Given the description of an element on the screen output the (x, y) to click on. 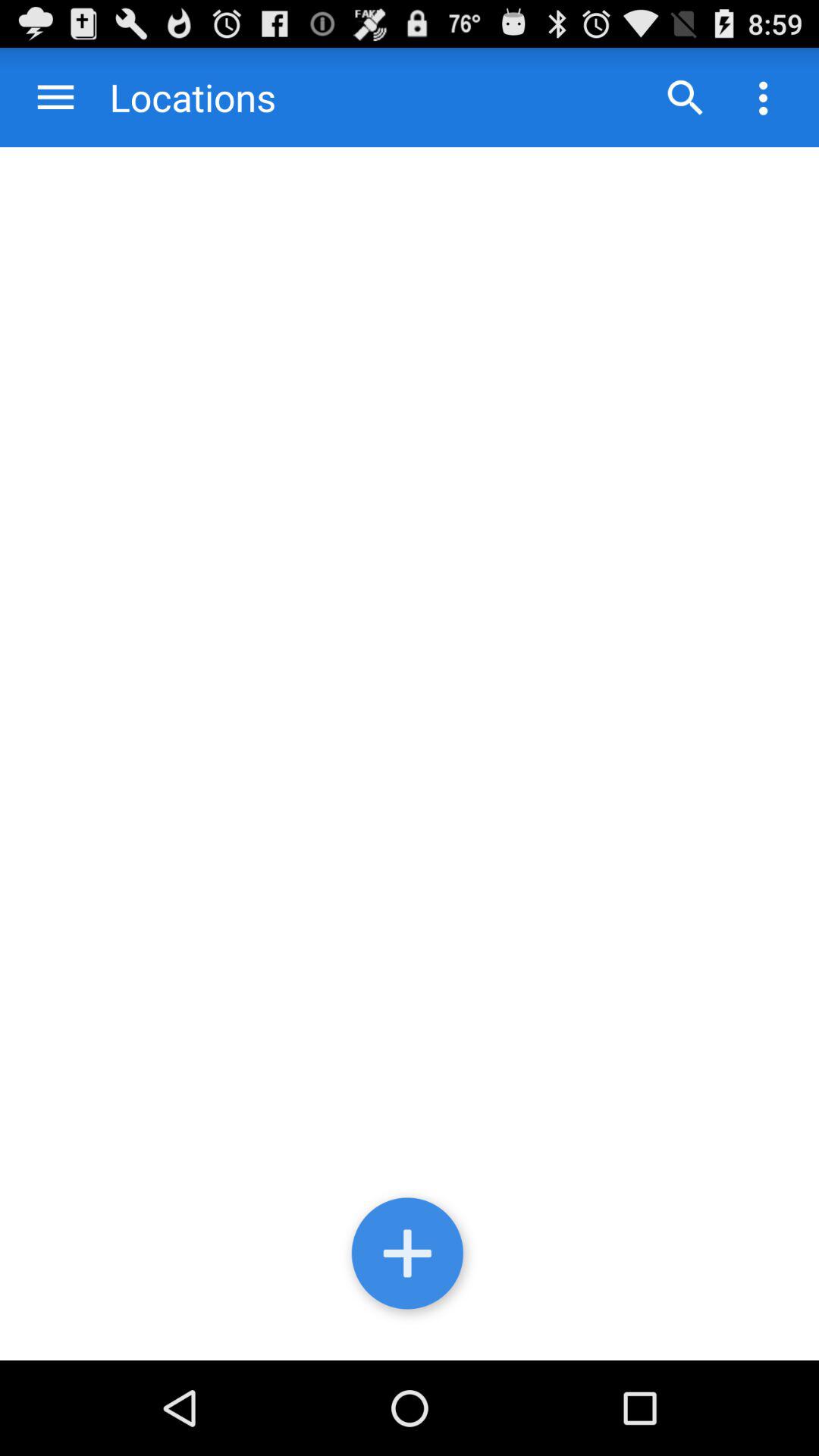
flip until locations item (177, 96)
